Given the description of an element on the screen output the (x, y) to click on. 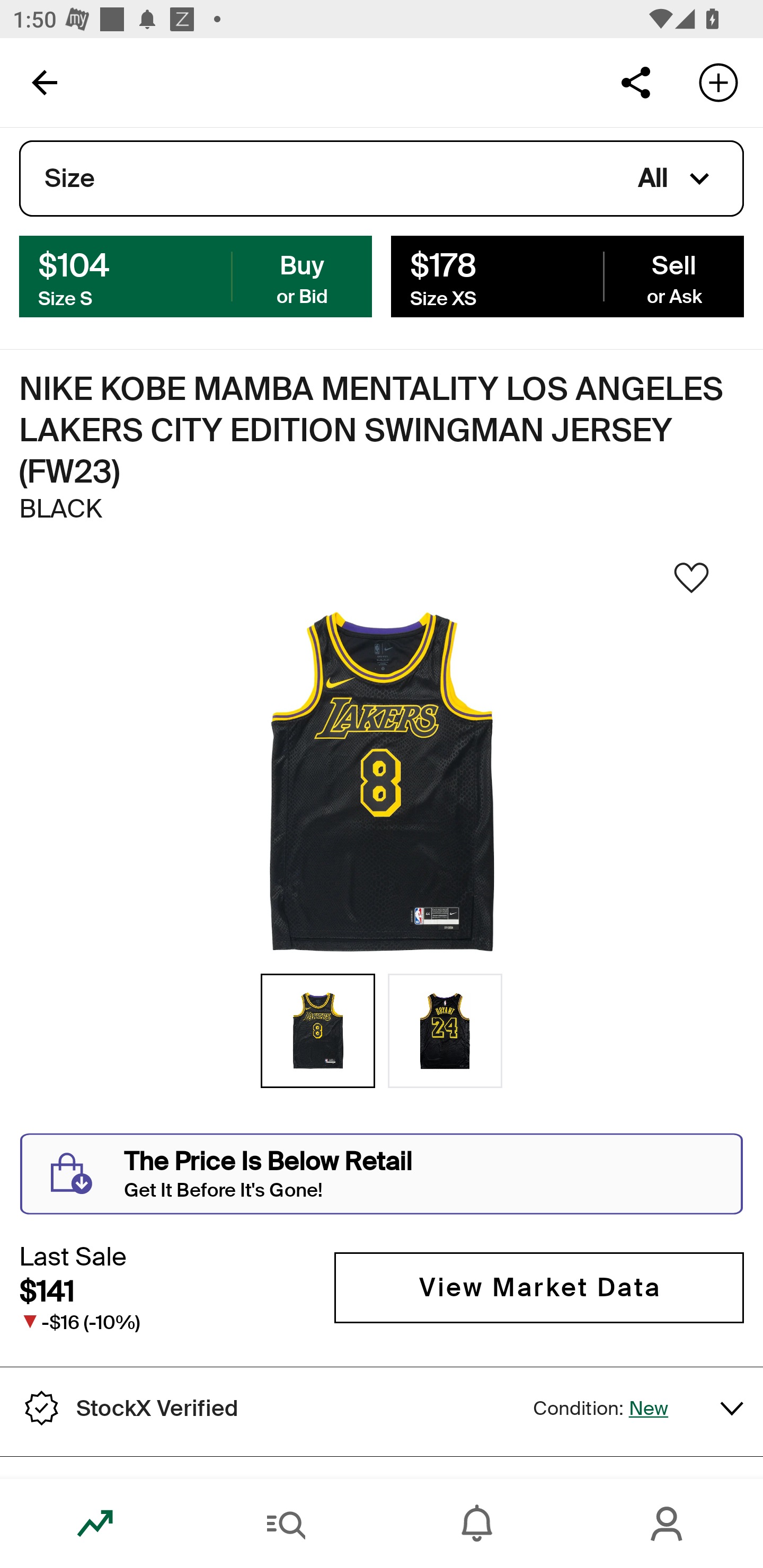
Share (635, 81)
Add (718, 81)
Size All (381, 178)
$104 Buy Size S or Bid (195, 275)
$178 Sell Size XS or Ask (566, 275)
Sneaker Image (381, 782)
View Market Data (538, 1287)
Search (285, 1523)
Inbox (476, 1523)
Account (667, 1523)
